Given the description of an element on the screen output the (x, y) to click on. 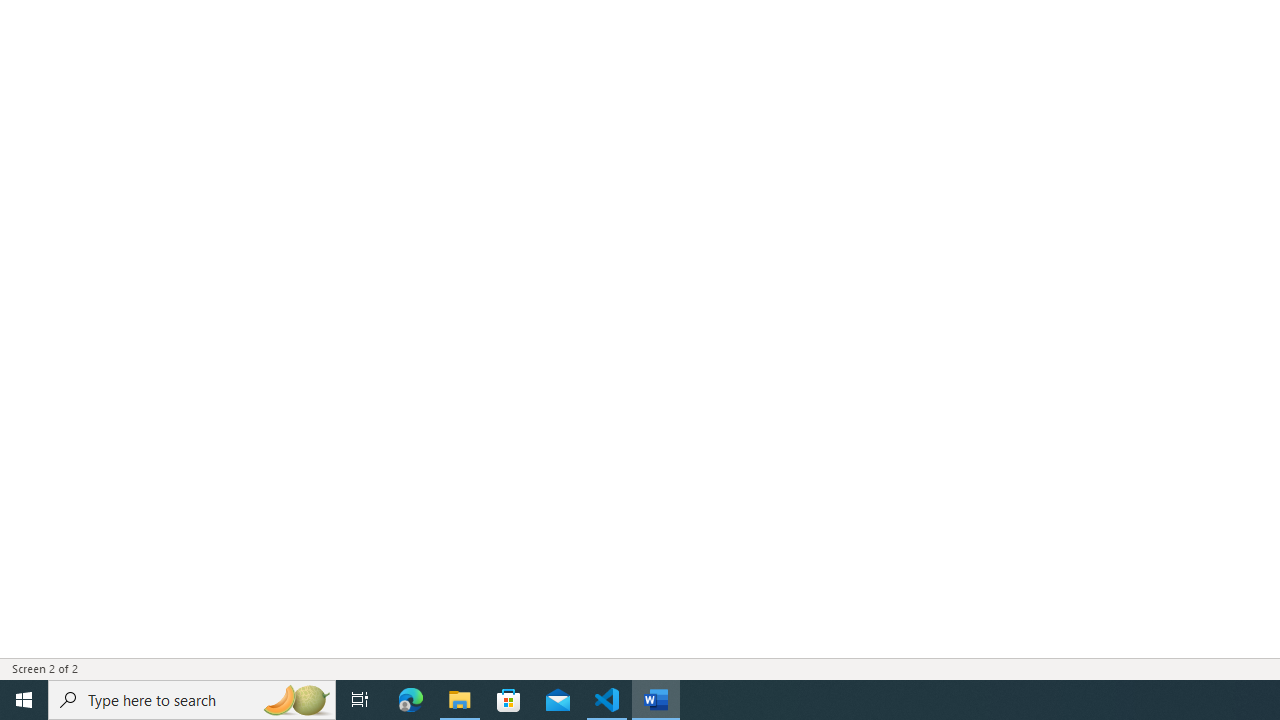
Page Number Screen 2 of 2  (52, 668)
